Given the description of an element on the screen output the (x, y) to click on. 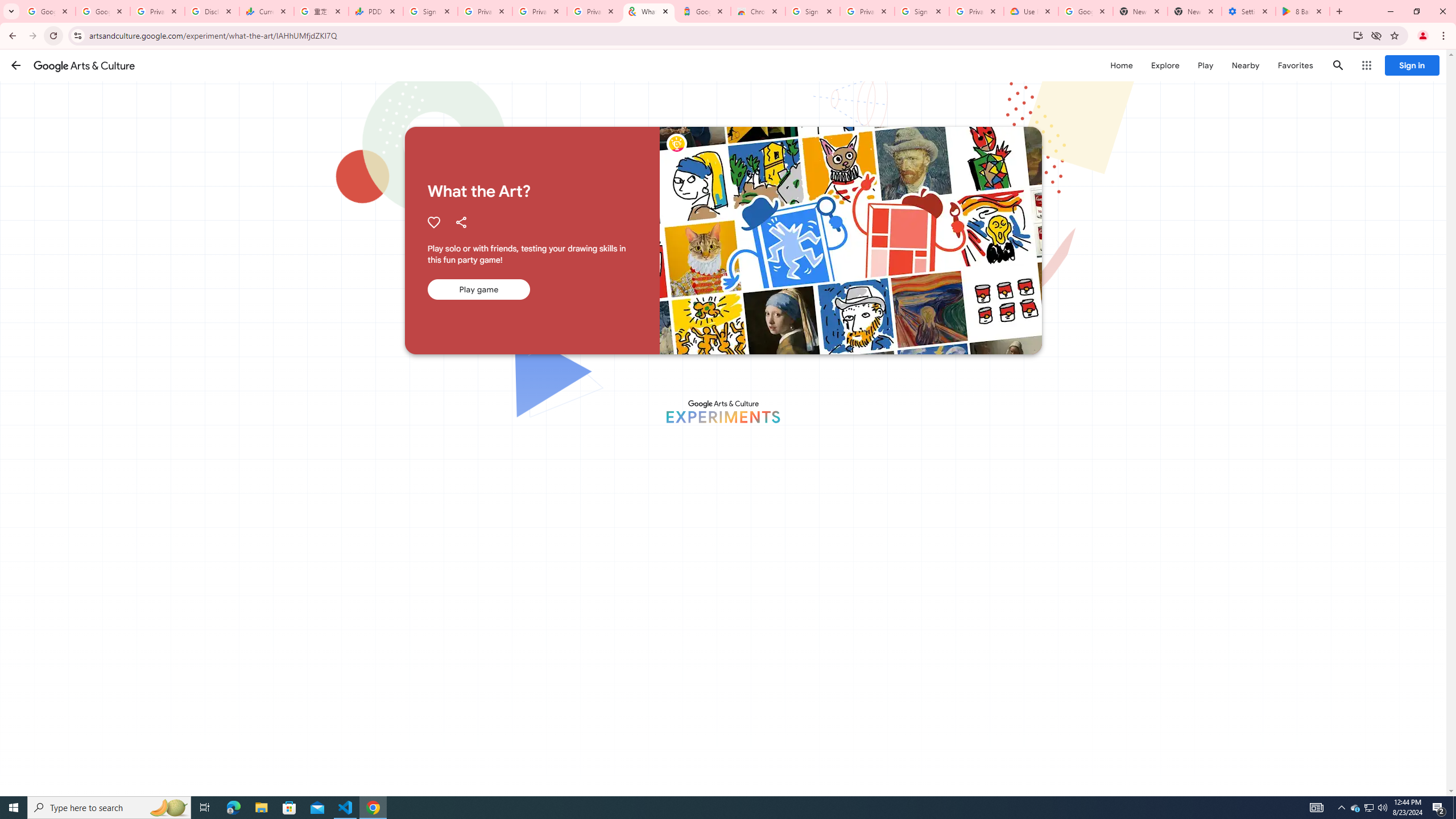
Google Arts & Culture (84, 65)
8 Ball Pool - Apps on Google Play (1303, 11)
Chrome Web Store - Color themes by Chrome (757, 11)
Sign in - Google Accounts (921, 11)
Authenticate to favorite this asset. (432, 221)
Sign in - Google Accounts (812, 11)
Settings - System (1249, 11)
Home (1120, 65)
